Given the description of an element on the screen output the (x, y) to click on. 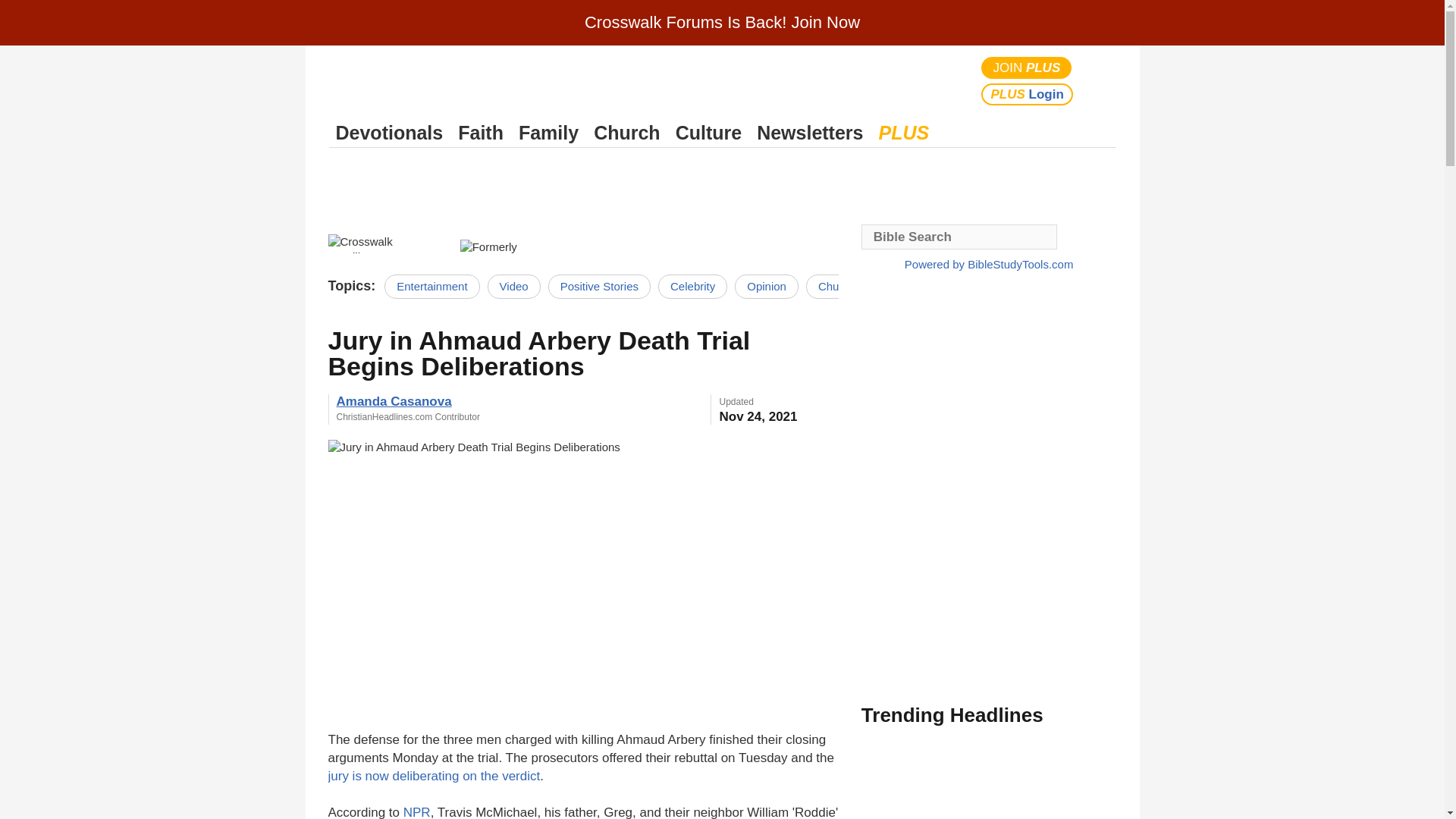
Family (548, 132)
JOIN PLUS (1026, 67)
Crosswalk Headlines (385, 241)
Faith (481, 132)
Join Plus (1026, 67)
Devotionals (389, 132)
Plus Login (1026, 94)
Search (1101, 80)
PLUS Login (1026, 94)
